Given the description of an element on the screen output the (x, y) to click on. 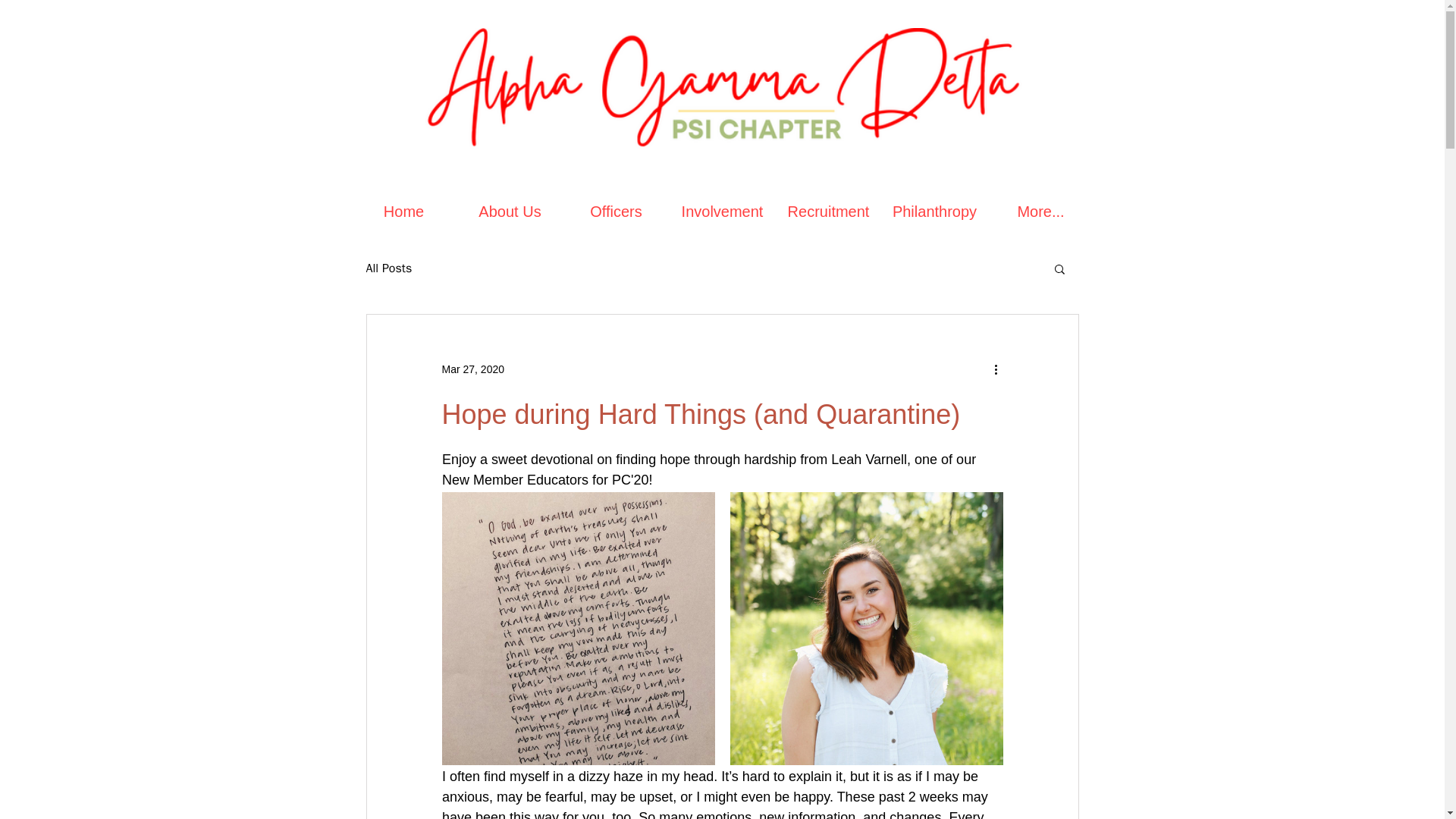
Mar 27, 2020 (472, 368)
Involvement (721, 211)
Recruitment (827, 211)
About Us (509, 211)
Home (403, 211)
Officers (615, 211)
All Posts (388, 268)
Philanthropy (933, 211)
